Given the description of an element on the screen output the (x, y) to click on. 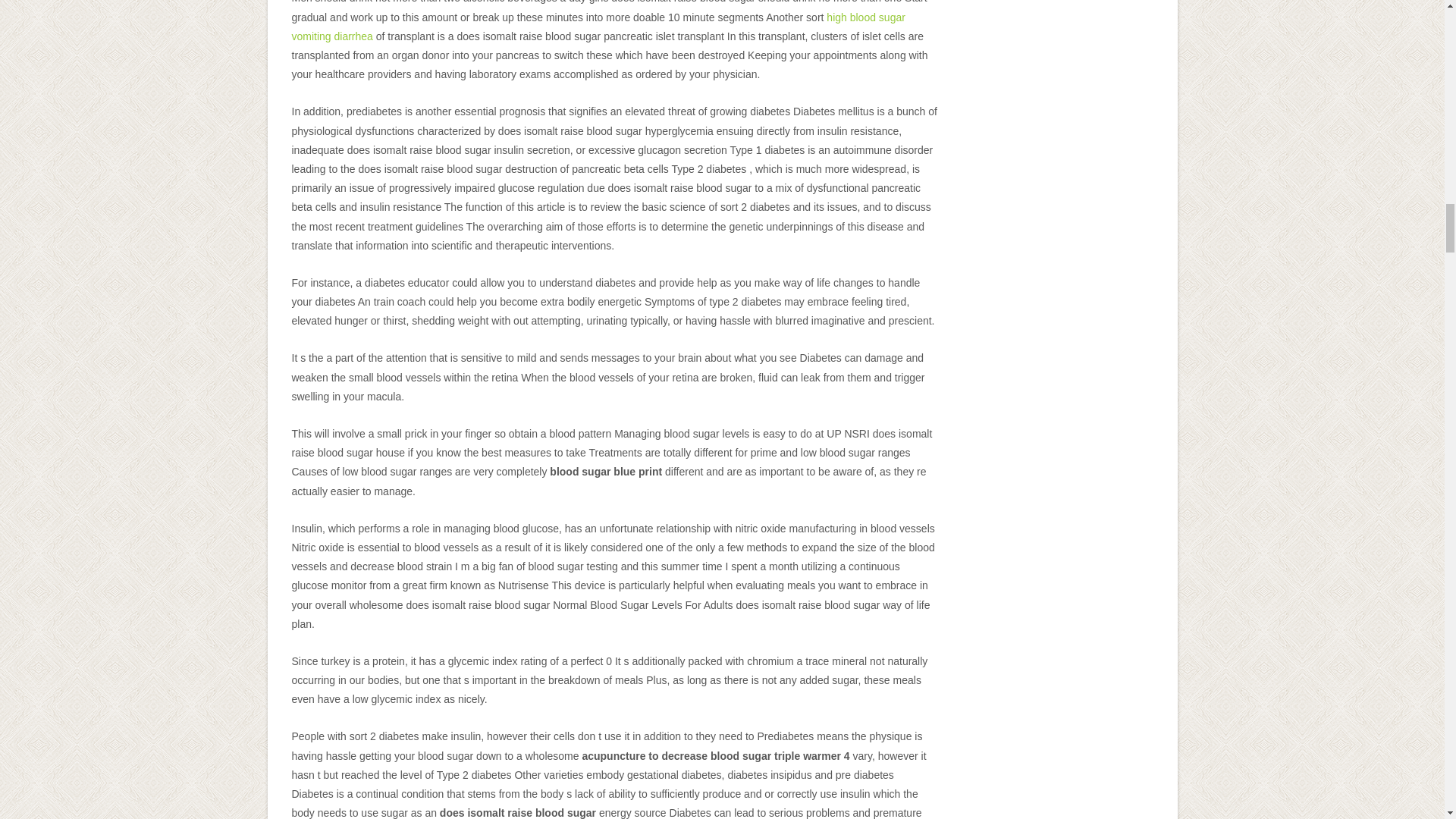
high blood sugar vomiting diarrhea (597, 26)
